Given the description of an element on the screen output the (x, y) to click on. 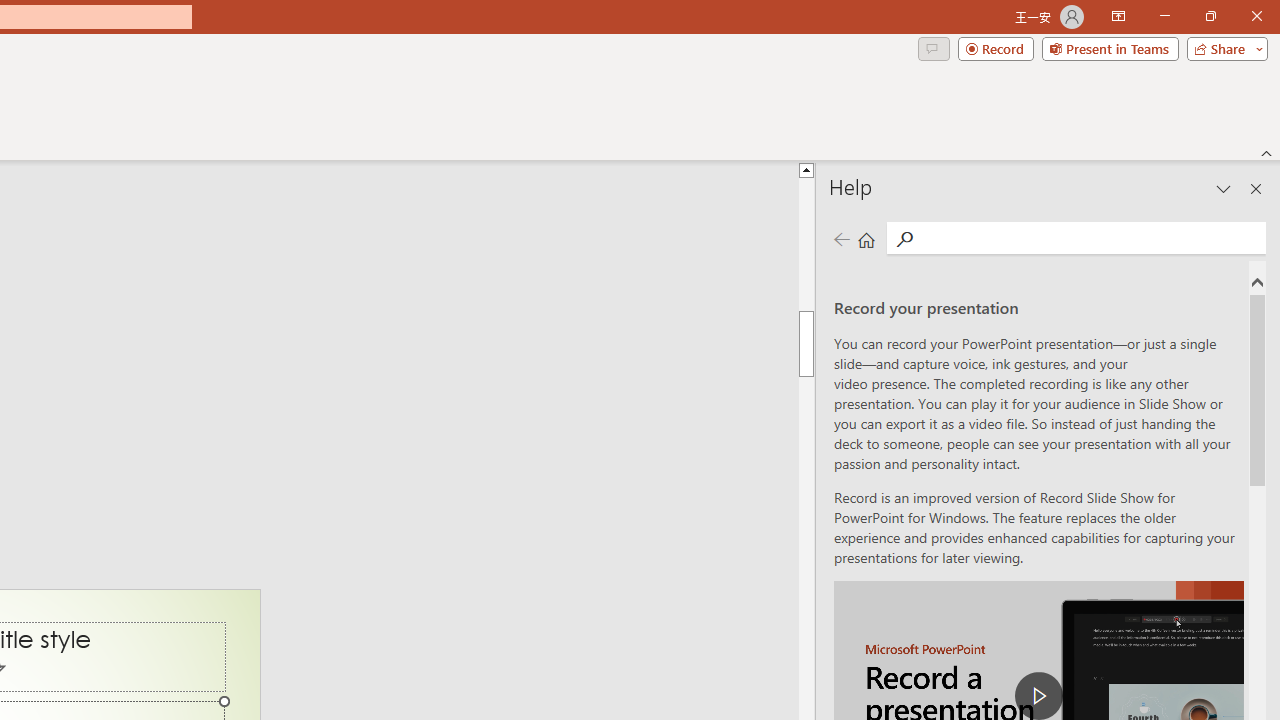
Page up (806, 244)
